Given the description of an element on the screen output the (x, y) to click on. 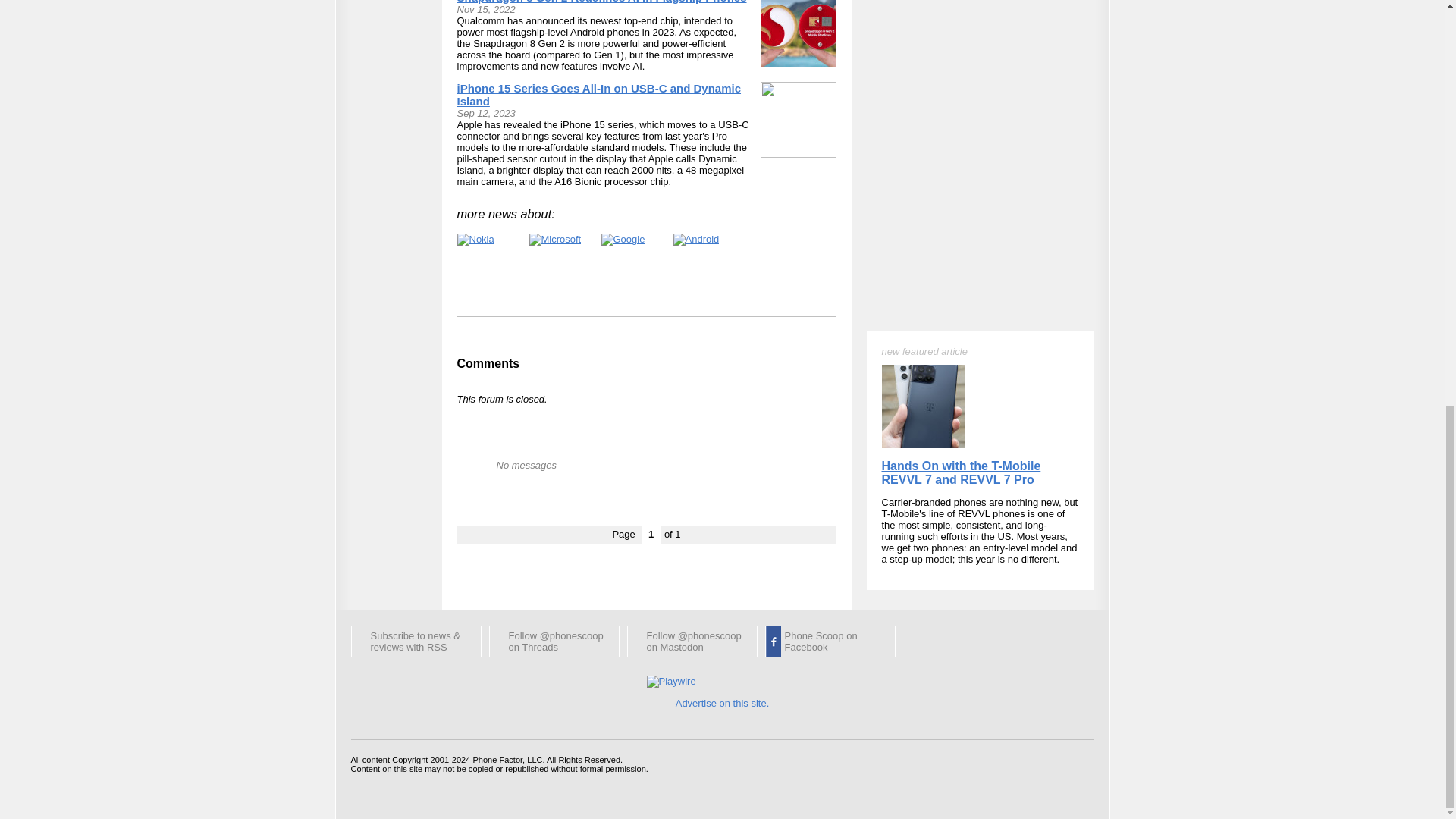
Nokia (475, 239)
Microsoft (554, 239)
Phone Scoop - Latest News (415, 641)
Android (695, 239)
Google (622, 239)
Comments (488, 363)
